Given the description of an element on the screen output the (x, y) to click on. 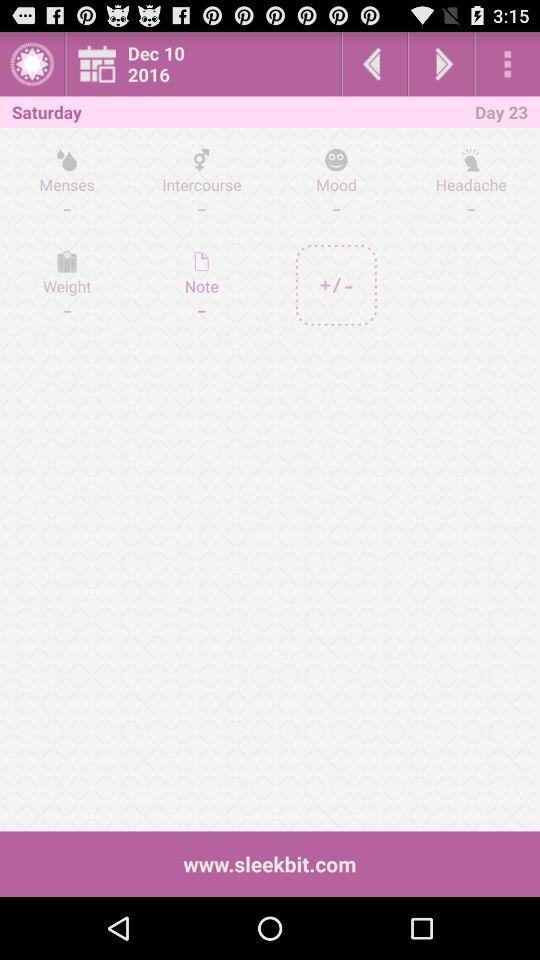
go to previous (374, 63)
